Given the description of an element on the screen output the (x, y) to click on. 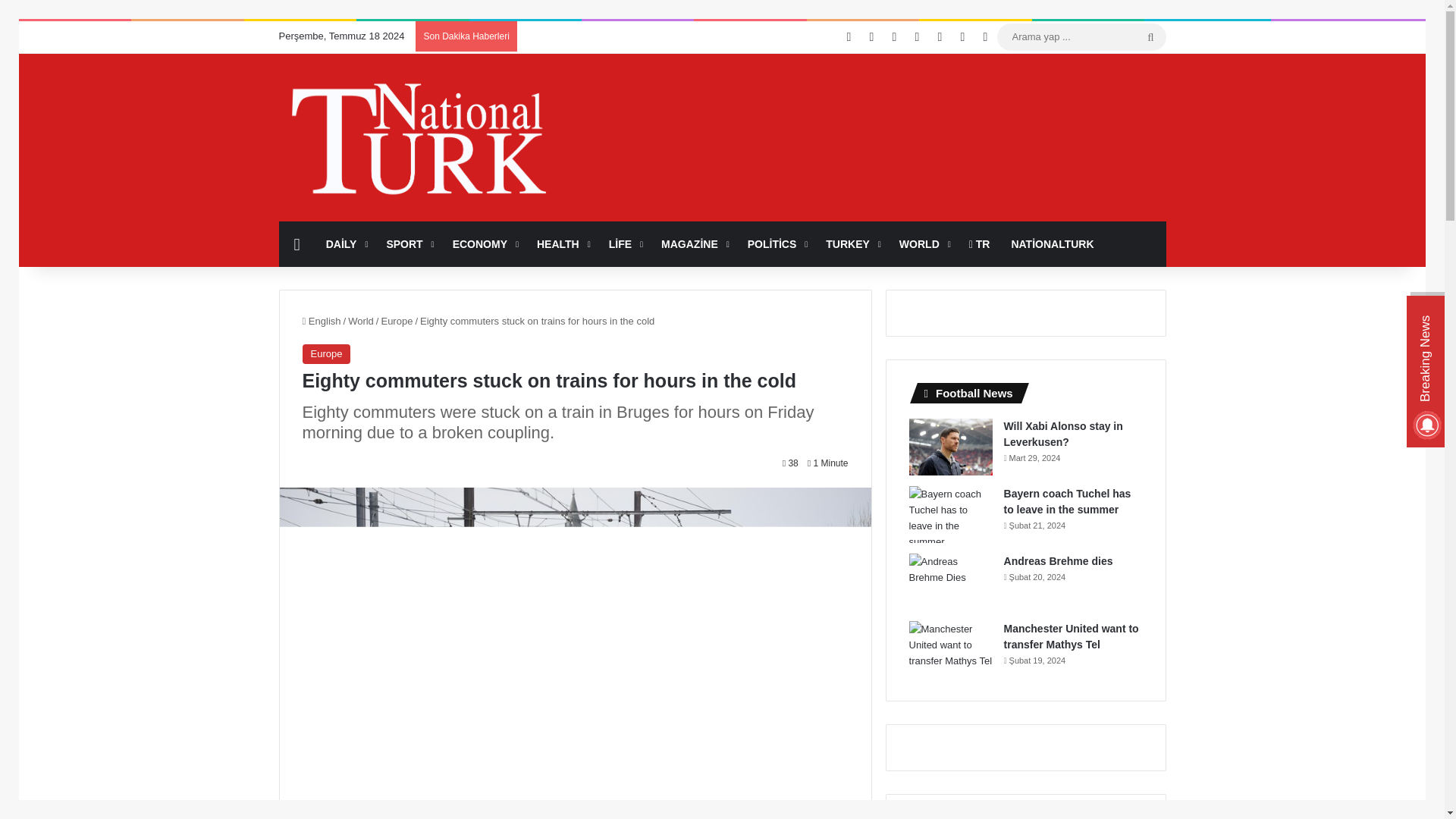
Arama yap ... (1080, 36)
MAGAZINE (693, 243)
ECONOMY (483, 243)
TURKEY (851, 243)
SPORT (408, 243)
HEALTH (561, 243)
POLITICS (775, 243)
DAILY (345, 243)
LIFE (624, 243)
Arama yap ... (1150, 36)
NationalTurk (419, 138)
